Given the description of an element on the screen output the (x, y) to click on. 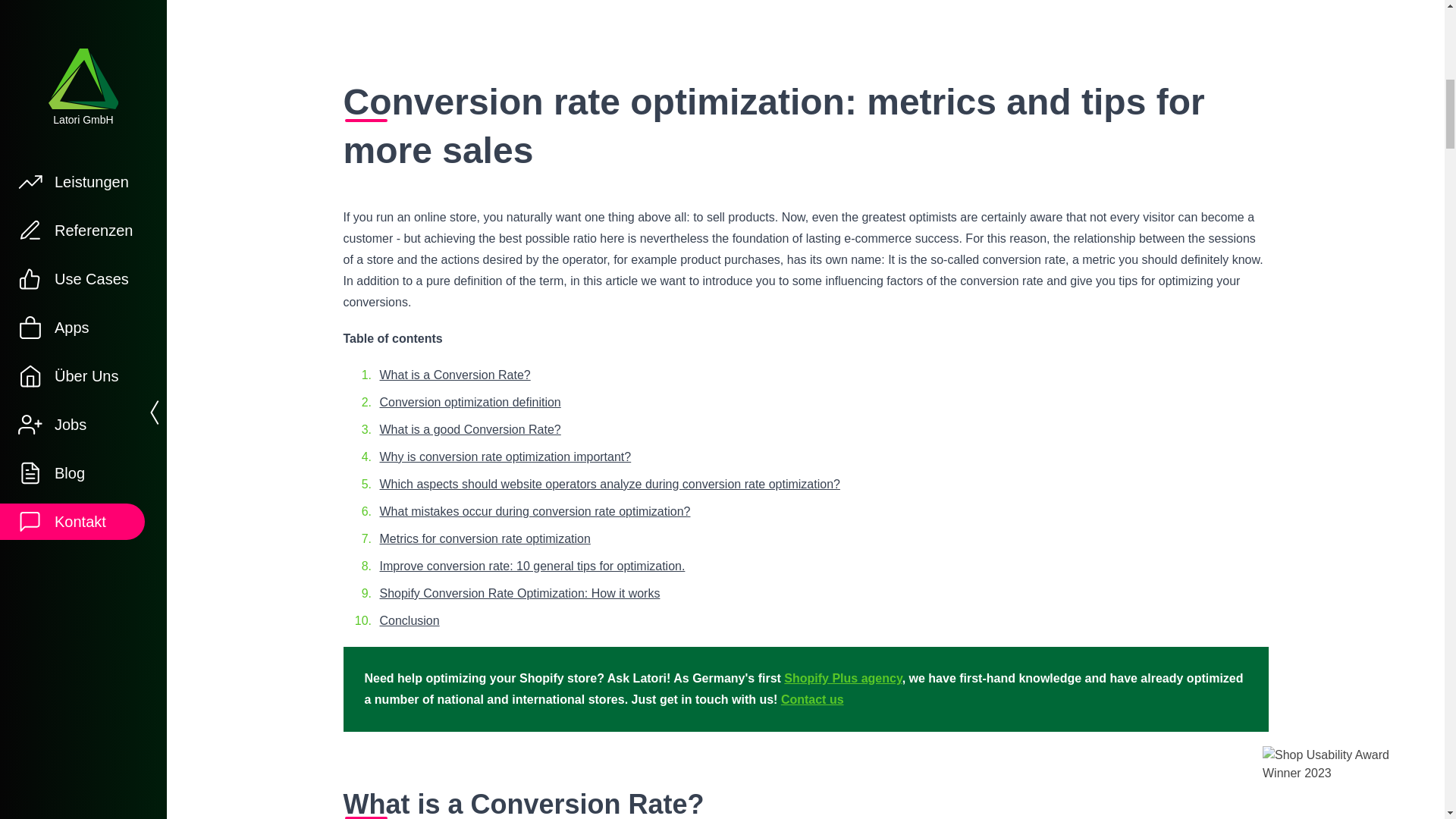
What is a good Conversion Rate? (469, 429)
Metrics for conversion rate optimization (483, 538)
Conversion optimization definition (469, 401)
Contact us (812, 698)
Why is conversion rate optimization important? (504, 456)
Conclusion (408, 620)
What is a Conversion Rate? (805, 802)
What is a Conversion Rate? (453, 374)
Shopify Conversion Rate Optimization: How it works (518, 593)
Improve conversion rate: 10 general tips for optimization. (531, 565)
What mistakes occur during conversion rate optimization? (534, 511)
Shopify Plus agency (842, 677)
